Given the description of an element on the screen output the (x, y) to click on. 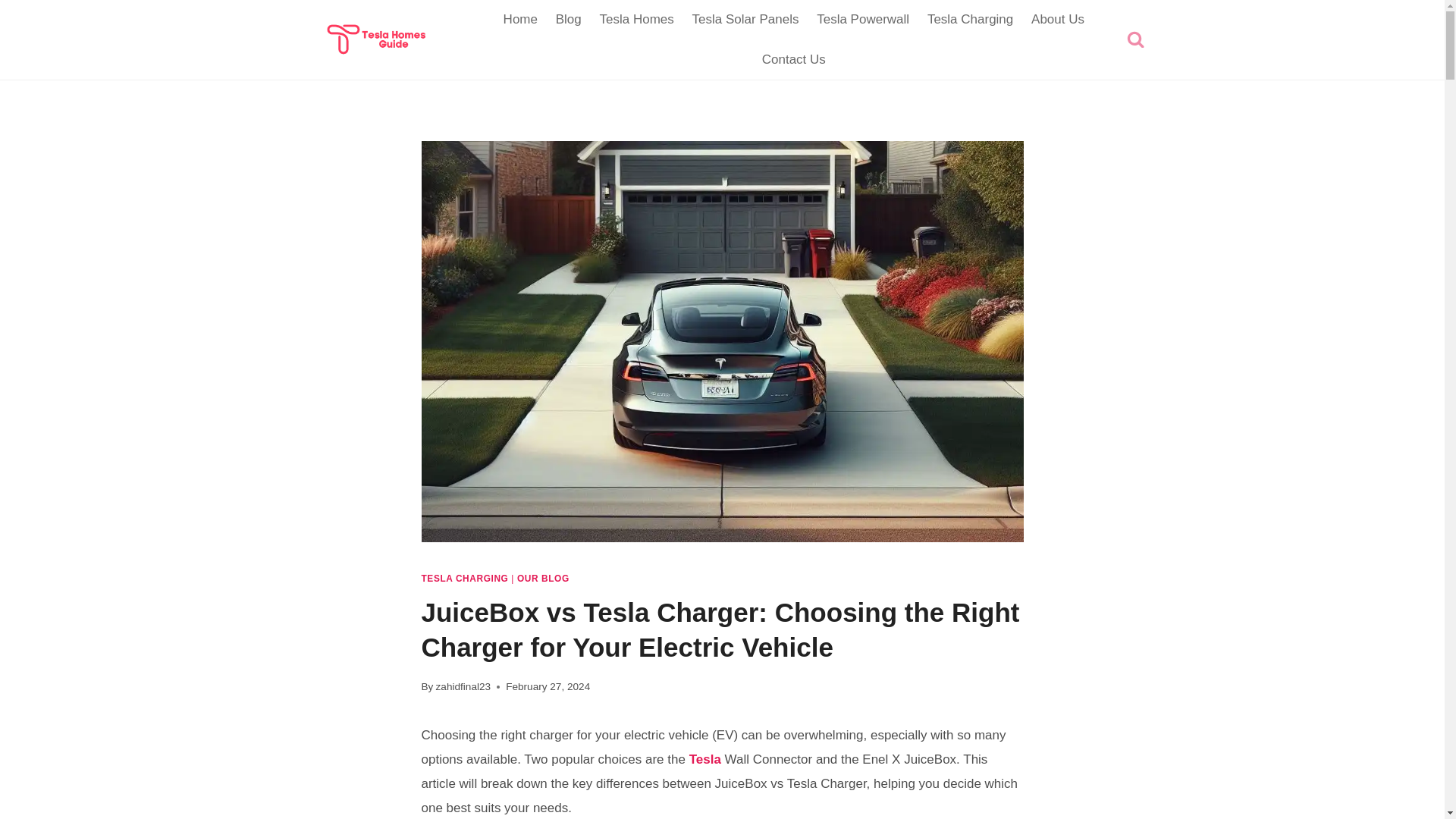
OUR BLOG (542, 578)
zahidfinal23 (463, 686)
Contact Us (793, 58)
Tesla (704, 759)
Tesla Powerwall (863, 19)
Blog (569, 19)
Tesla Solar Panels (745, 19)
TESLA CHARGING (465, 578)
Home (521, 19)
Tesla Charging (970, 19)
Tesla Homes (636, 19)
About Us (1057, 19)
